Given the description of an element on the screen output the (x, y) to click on. 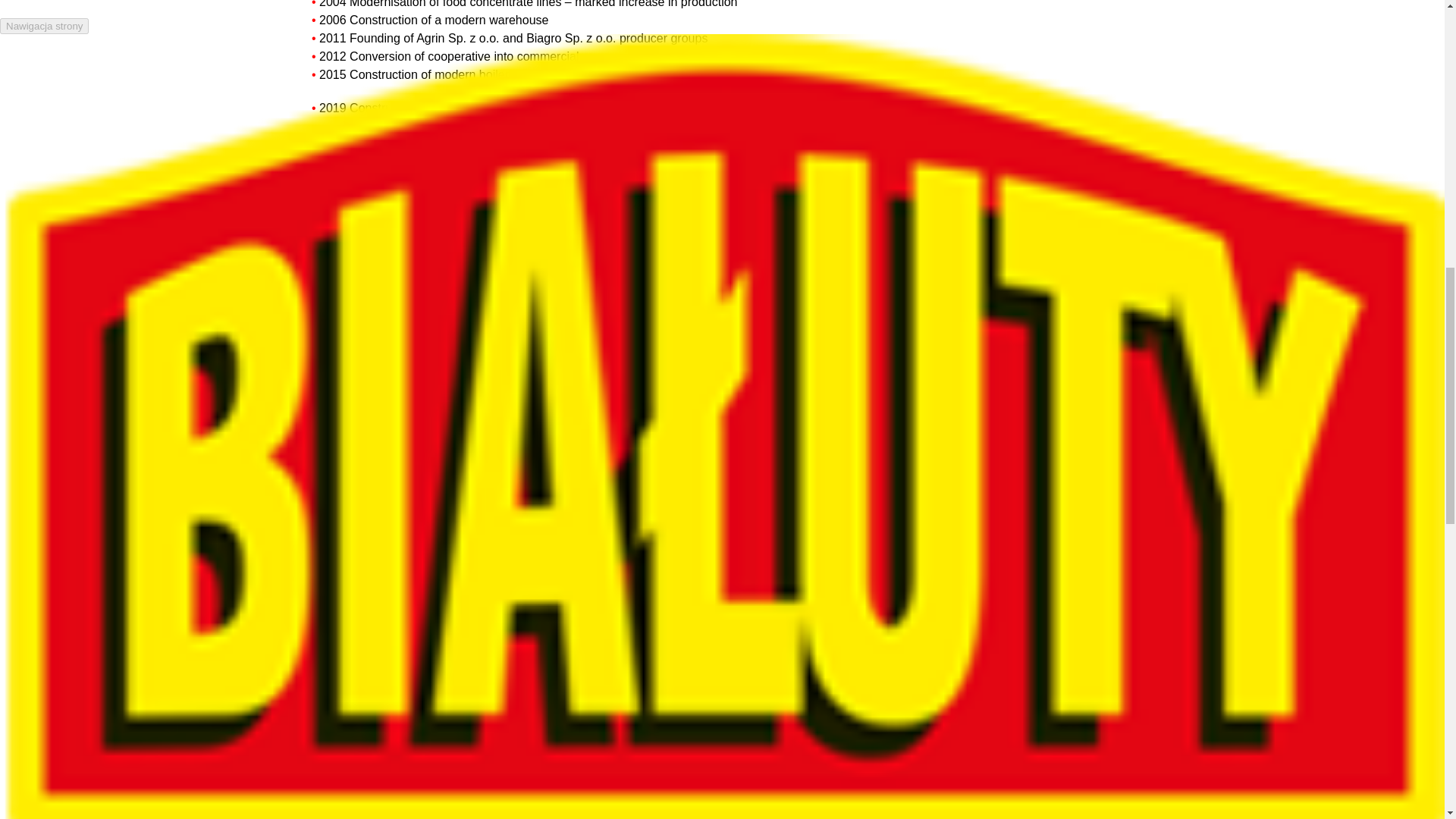
PL (7, 53)
RECIPES (289, 21)
PROW 2014-2020 (363, 21)
DE (8, 72)
OFFER (242, 21)
NEWS (202, 21)
EN (8, 91)
ABOUT THE COMPANY (119, 21)
HOME EN (26, 21)
